Given the description of an element on the screen output the (x, y) to click on. 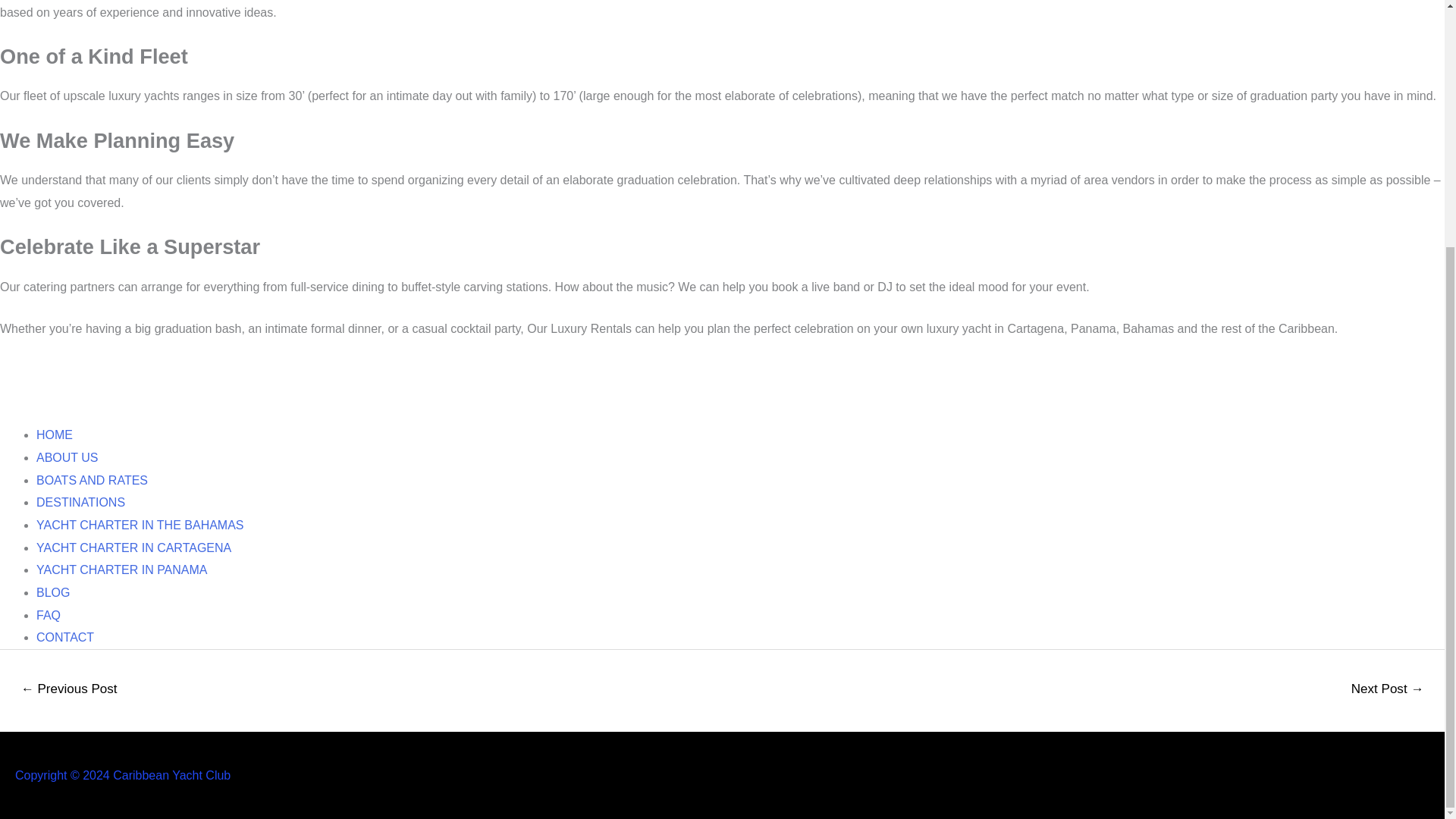
Contact (65, 636)
Destinations (80, 502)
Blog (52, 592)
CONTACT (65, 636)
DESTINATIONS (80, 502)
Boats And Rates (92, 480)
YACHT CHARTER IN CARTAGENA (133, 547)
Faq (48, 615)
Home (54, 434)
FAQ (48, 615)
